Given the description of an element on the screen output the (x, y) to click on. 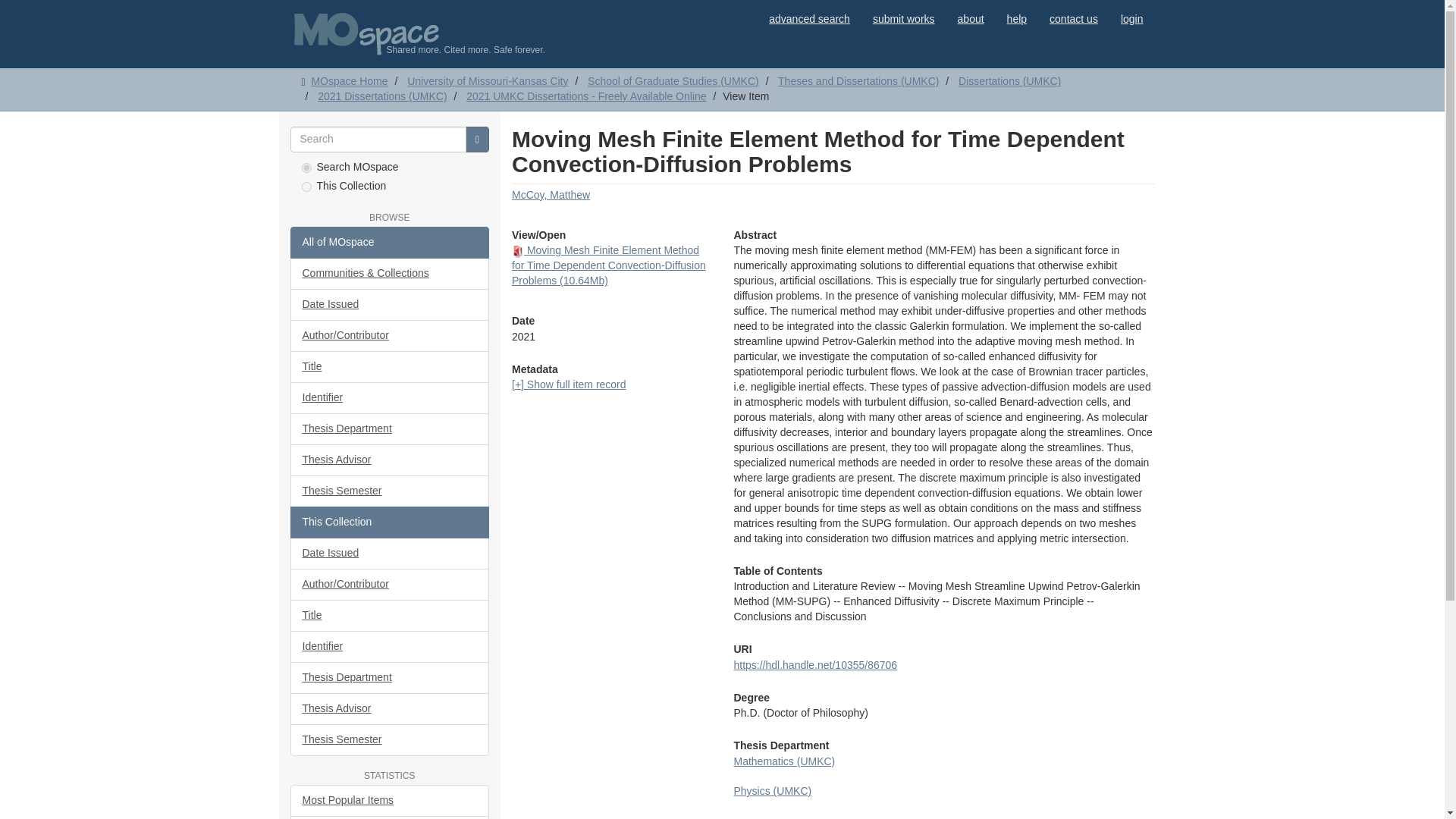
Thesis Department (389, 429)
help (1016, 18)
University of Missouri-Kansas City (487, 80)
login (1131, 18)
2021 UMKC Dissertations - Freely Available Online (585, 96)
advanced search (809, 18)
Thesis Advisor (389, 459)
Date Issued (389, 305)
Title (389, 367)
about (970, 18)
